Given the description of an element on the screen output the (x, y) to click on. 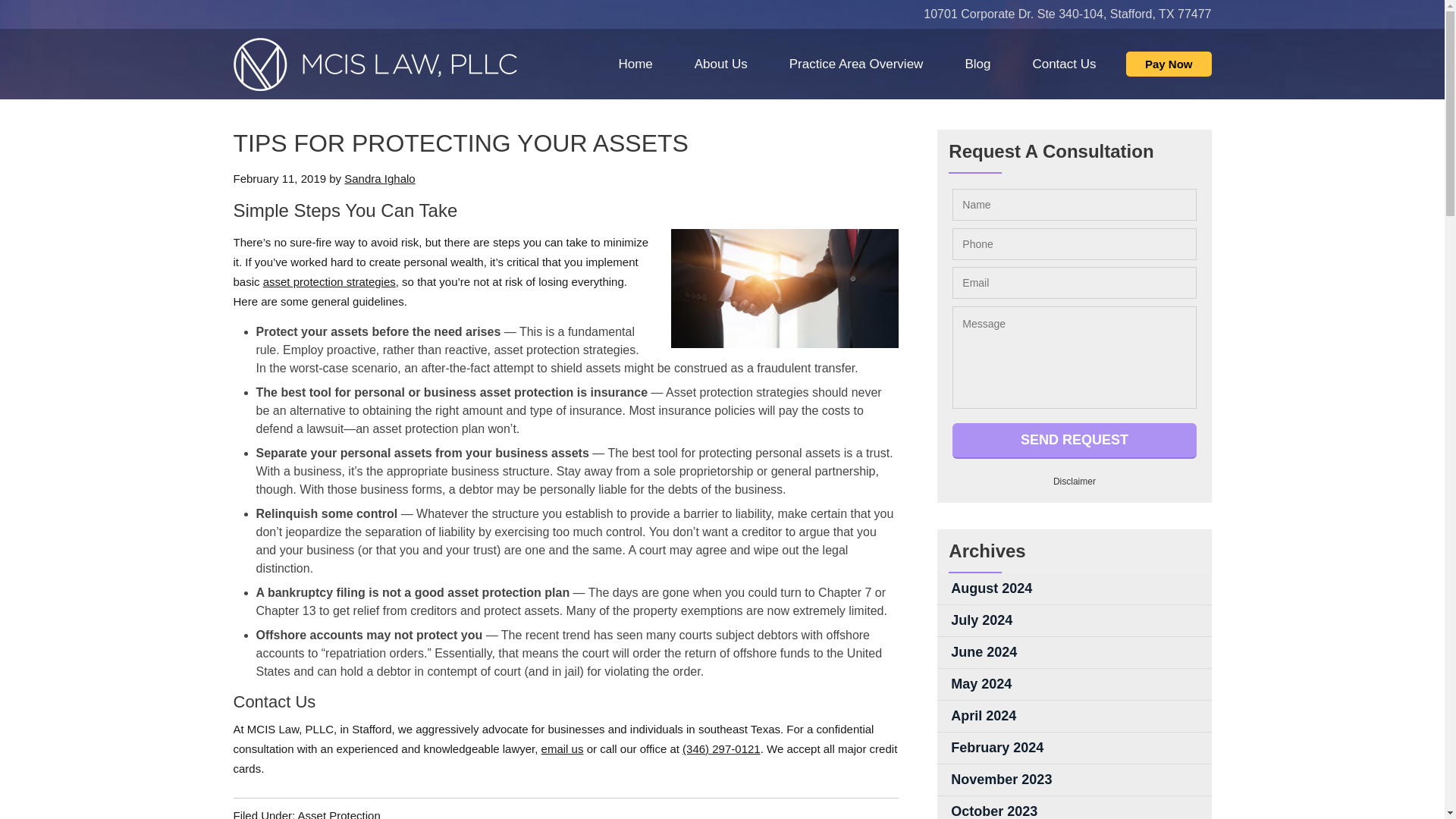
October 2023 (1074, 807)
Send Request (1073, 440)
About Us (720, 63)
10701 Corporate Dr. Ste 340-104, Stafford, TX 77477 (1067, 13)
Disclaimer (1074, 480)
Asset Protection (339, 814)
February 2024 (1074, 747)
July 2024 (1074, 620)
Practice Area Overview (855, 63)
April 2024 (1074, 716)
